Given the description of an element on the screen output the (x, y) to click on. 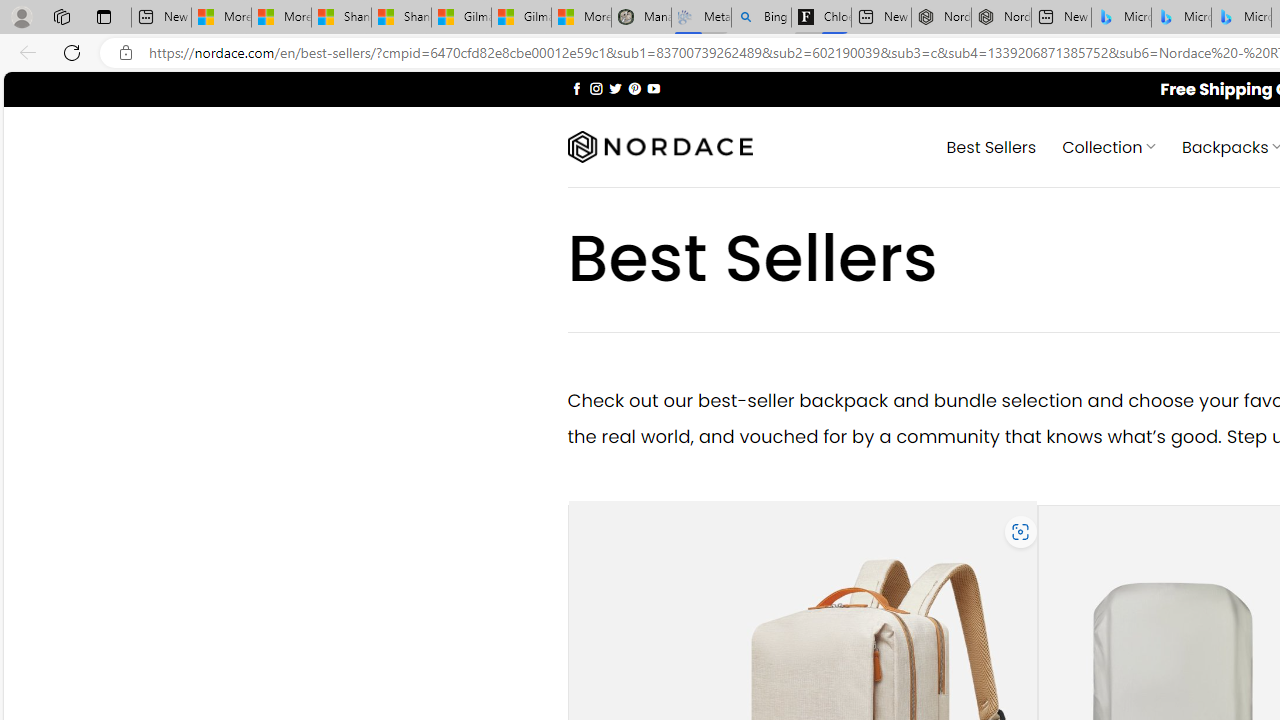
Microsoft Bing Travel - Stays in Bangkok, Bangkok, Thailand (1181, 17)
Follow on Twitter (615, 88)
Follow on Pinterest (634, 88)
Nordace - #1 Japanese Best-Seller - Siena Smart Backpack (1000, 17)
Manatee Mortality Statistics | FWC (640, 17)
Microsoft Bing Travel - Shangri-La Hotel Bangkok (1241, 17)
Gilma and Hector both pose tropical trouble for Hawaii (521, 17)
